Given the description of an element on the screen output the (x, y) to click on. 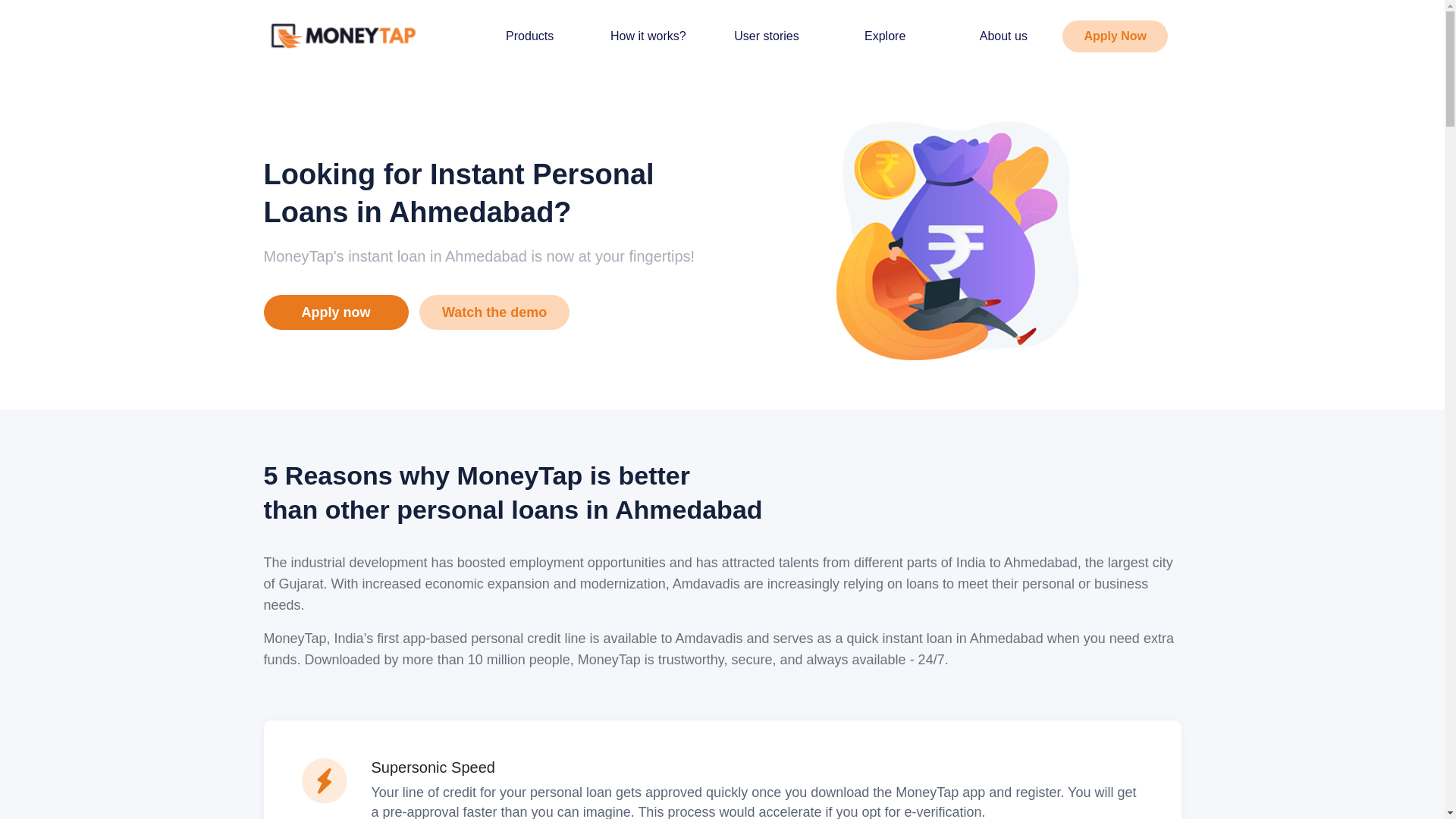
User stories (765, 35)
About us (1003, 35)
Apply Now (1114, 35)
Explore (884, 35)
Watch the demo (494, 312)
Apply now (336, 312)
How it works? (647, 35)
Products (529, 35)
